Given the description of an element on the screen output the (x, y) to click on. 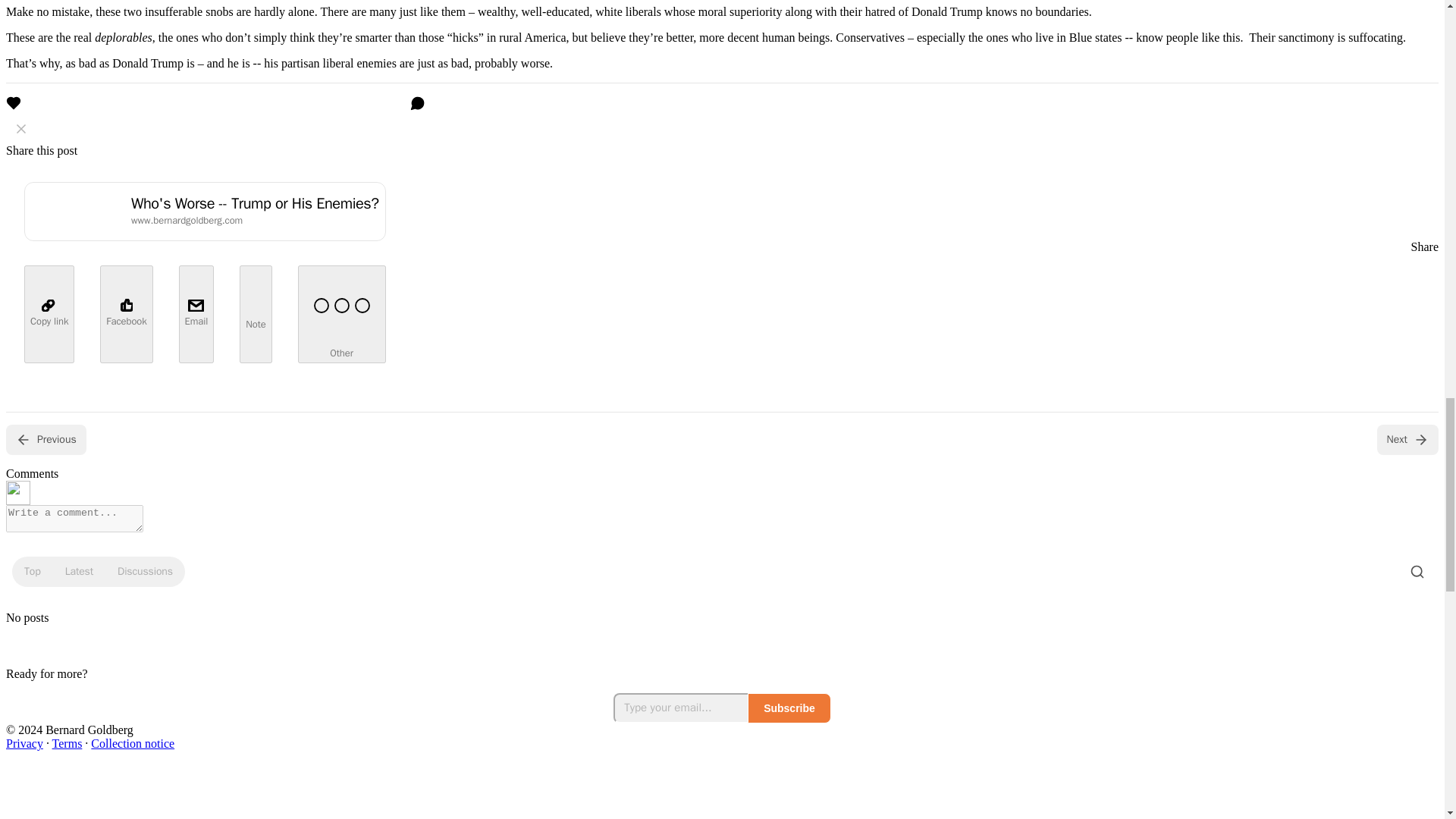
Copy link (49, 314)
Facebook (126, 314)
Email (196, 314)
Top (31, 571)
Other (341, 314)
Privacy (24, 743)
Subscribe (789, 707)
Previous (45, 440)
Discussions (144, 571)
Latest (78, 571)
Note (255, 314)
